Given the description of an element on the screen output the (x, y) to click on. 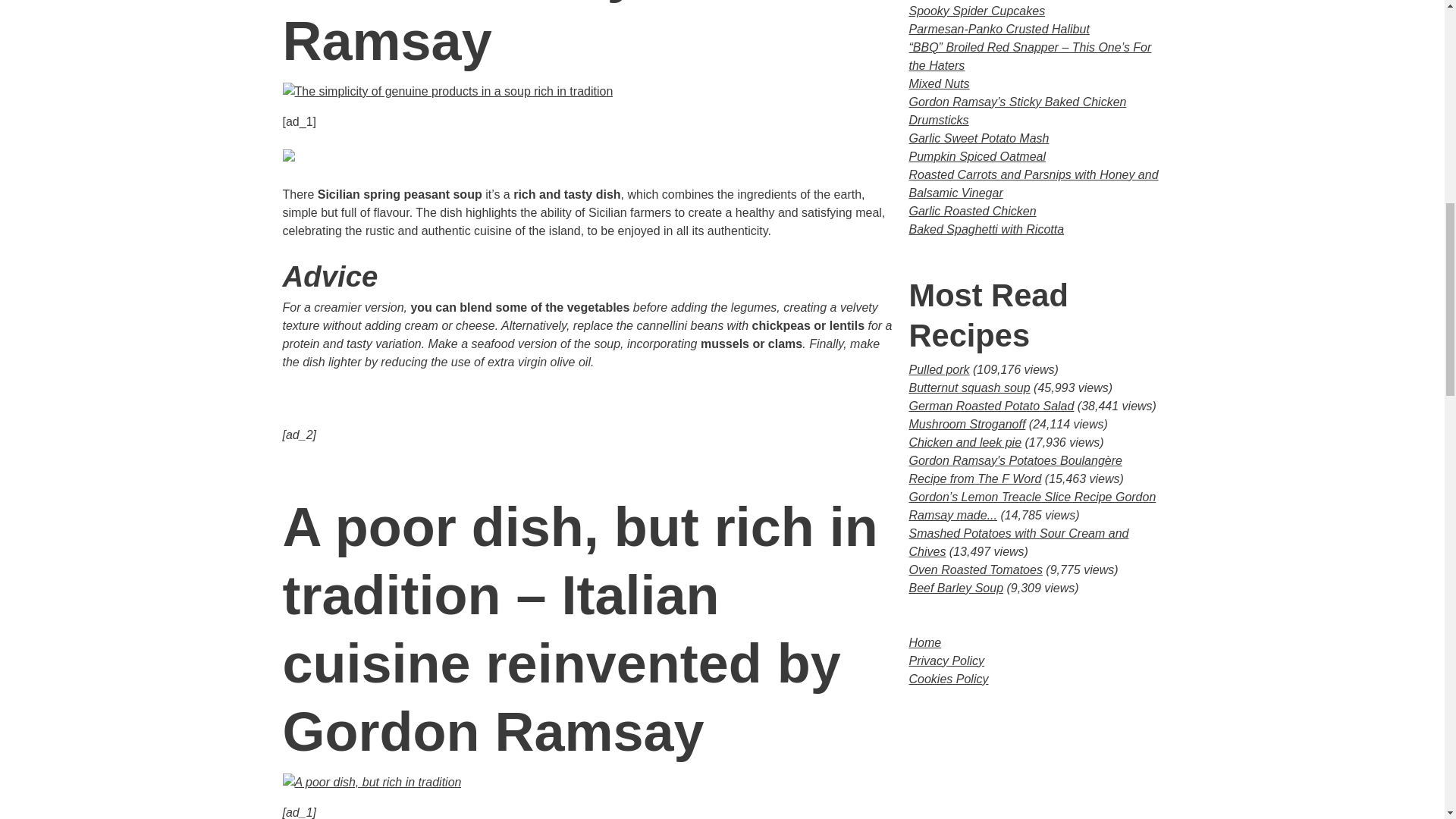
Butternut squash soup (968, 387)
Oven Roasted Tomatoes (975, 569)
German Roasted Potato Salad (991, 405)
Chicken and leek pie (965, 441)
Pulled pork (938, 369)
Mushroom Stroganoff (966, 423)
Beef Barley Soup (955, 587)
Smashed Potatoes with Sour Cream and Chives (1018, 542)
